Given the description of an element on the screen output the (x, y) to click on. 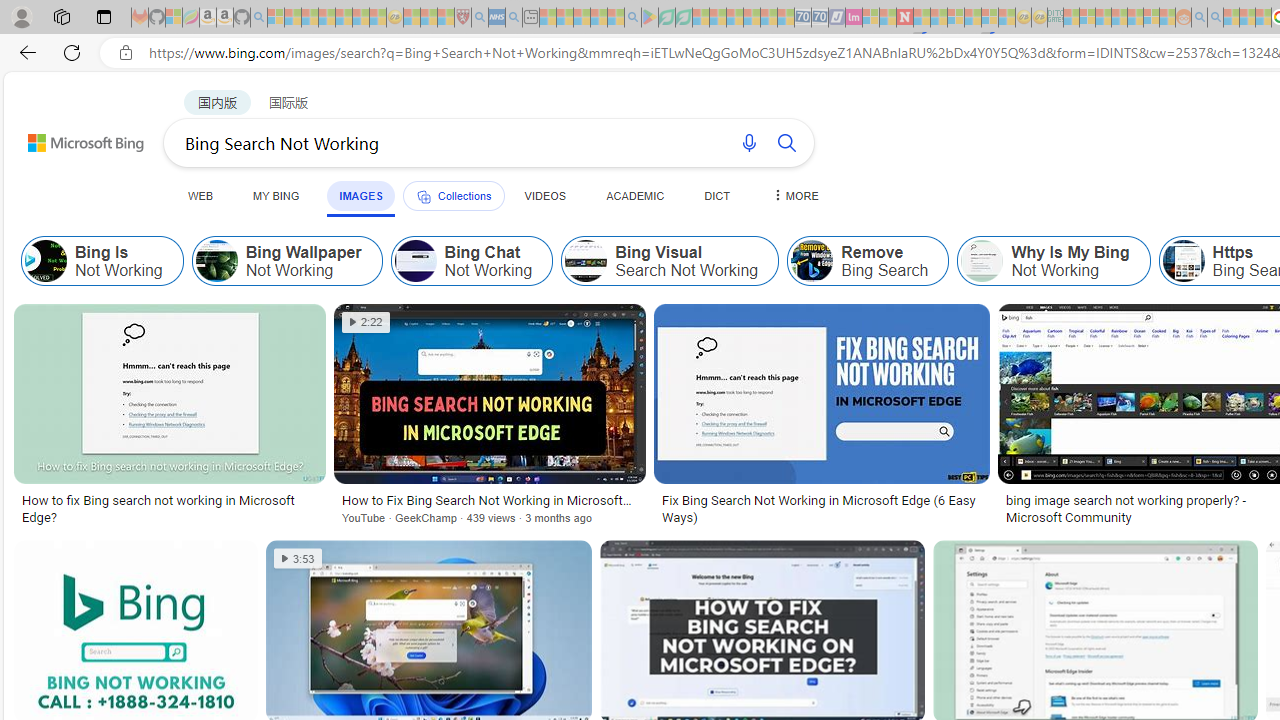
3:53 (297, 558)
Dropdown Menu (793, 195)
Bing Chat Not Working (415, 260)
Image result for Bing Search Not Working (821, 393)
WEB (201, 195)
